Given the description of an element on the screen output the (x, y) to click on. 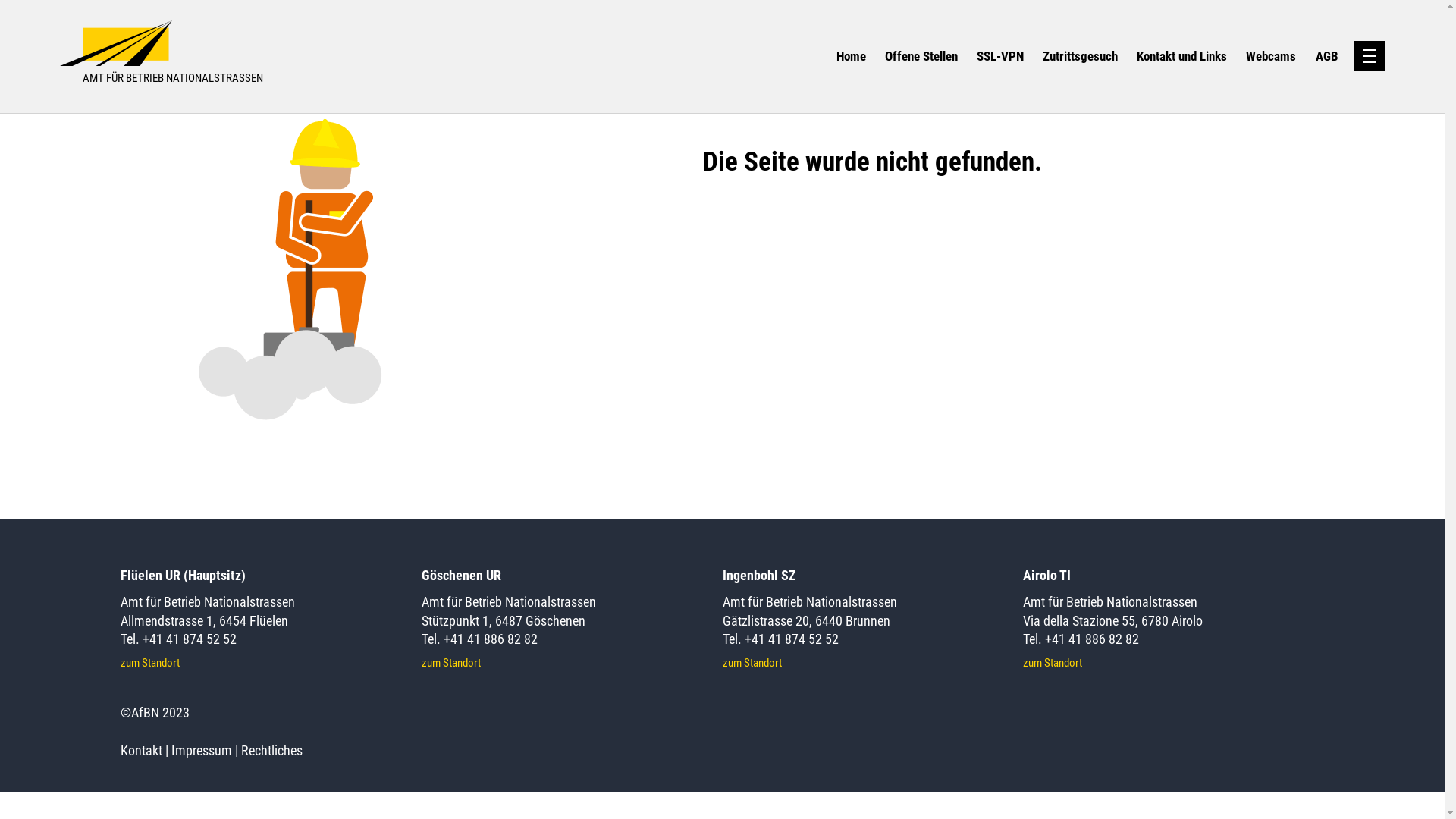
AGB Element type: text (1326, 56)
Kontakt Element type: text (141, 750)
Zutrittsgesuch Element type: text (1079, 56)
Home Element type: text (850, 56)
SSL-VPN Element type: text (999, 56)
Impressum Element type: text (201, 750)
Rechtliches Element type: text (271, 750)
Webcams Element type: text (1270, 56)
Kontakt und Links Element type: text (1181, 56)
Offene Stellen Element type: text (920, 56)
